Given the description of an element on the screen output the (x, y) to click on. 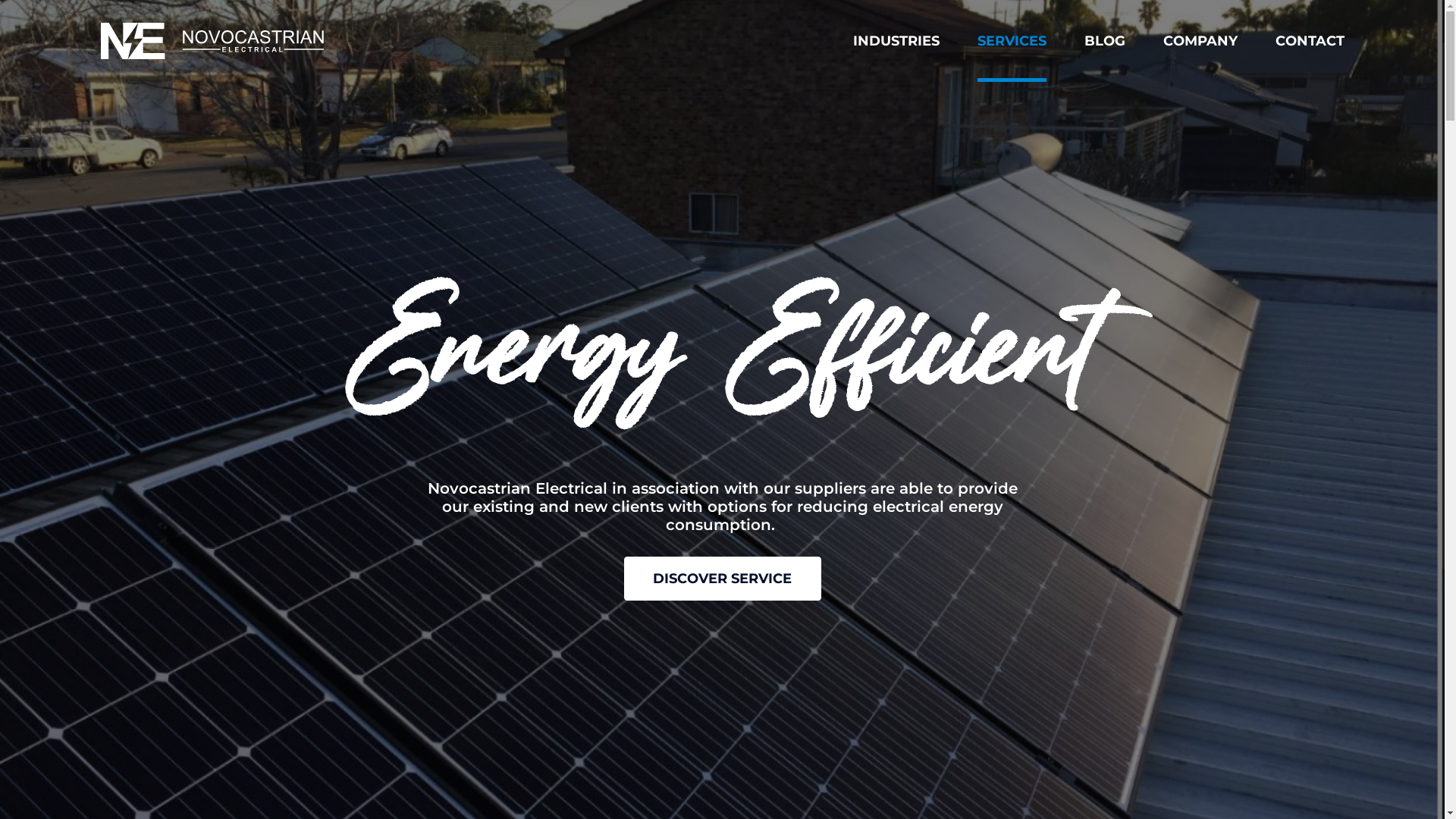
DISCOVER SERVICE Element type: text (721, 578)
COMPANY Element type: text (1200, 40)
SERVICES Element type: text (1010, 40)
CONTACT Element type: text (1309, 40)
BLOG Element type: text (1104, 40)
INDUSTRIES Element type: text (895, 40)
